Given the description of an element on the screen output the (x, y) to click on. 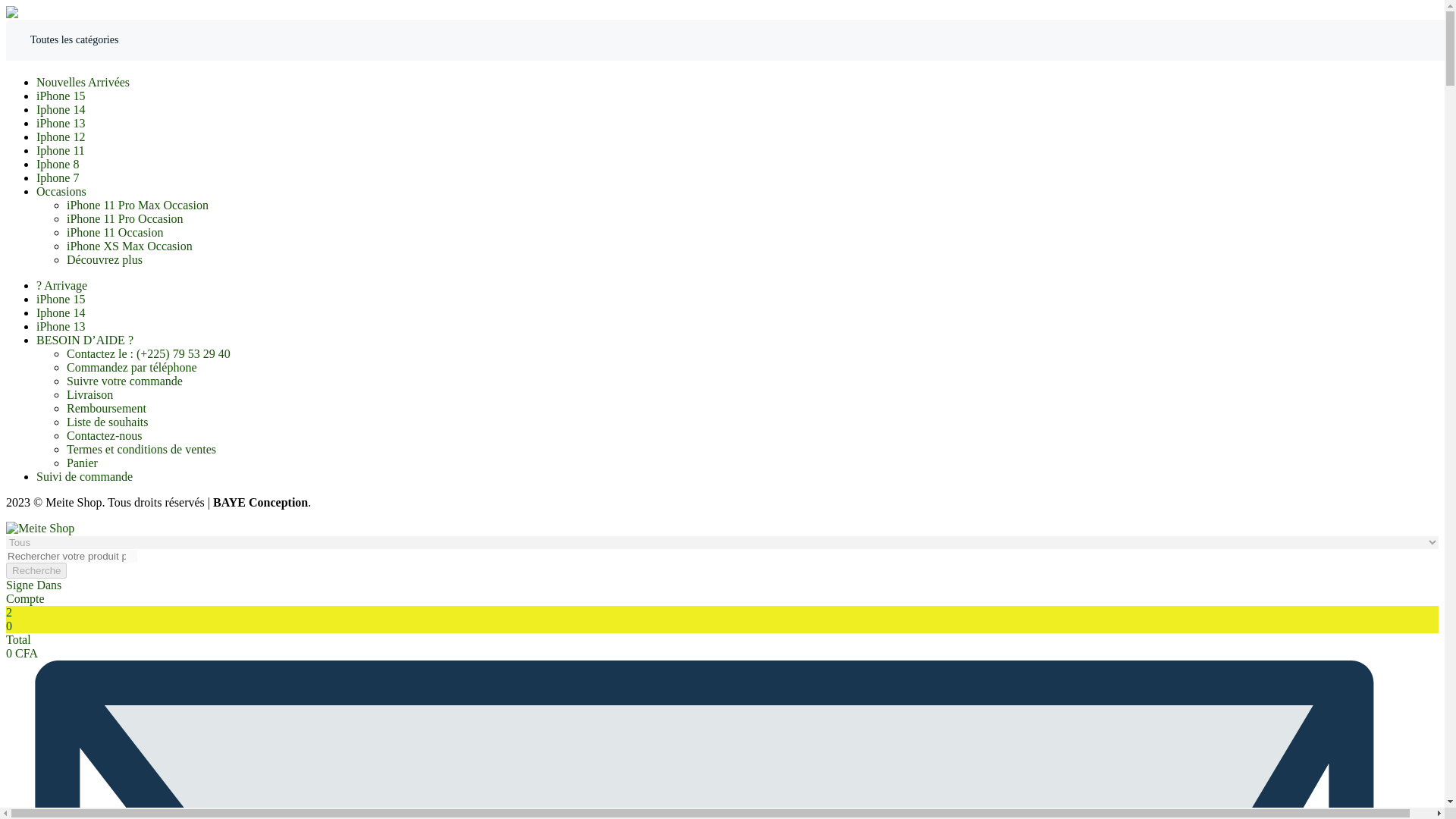
iPhone 13 (60, 123)
iPhone 15 (60, 298)
iPhone 13 (60, 326)
Panier (81, 462)
Meite Shop (39, 527)
Termes et conditions de ventes (140, 449)
Recherche (35, 570)
Suivre votre commande (124, 380)
iPhone 11 Pro Occasion (124, 218)
Iphone 8 (57, 164)
iPhone 11 Occasion (114, 232)
Liste de souhaits (107, 421)
Livraison (89, 394)
